Given the description of an element on the screen output the (x, y) to click on. 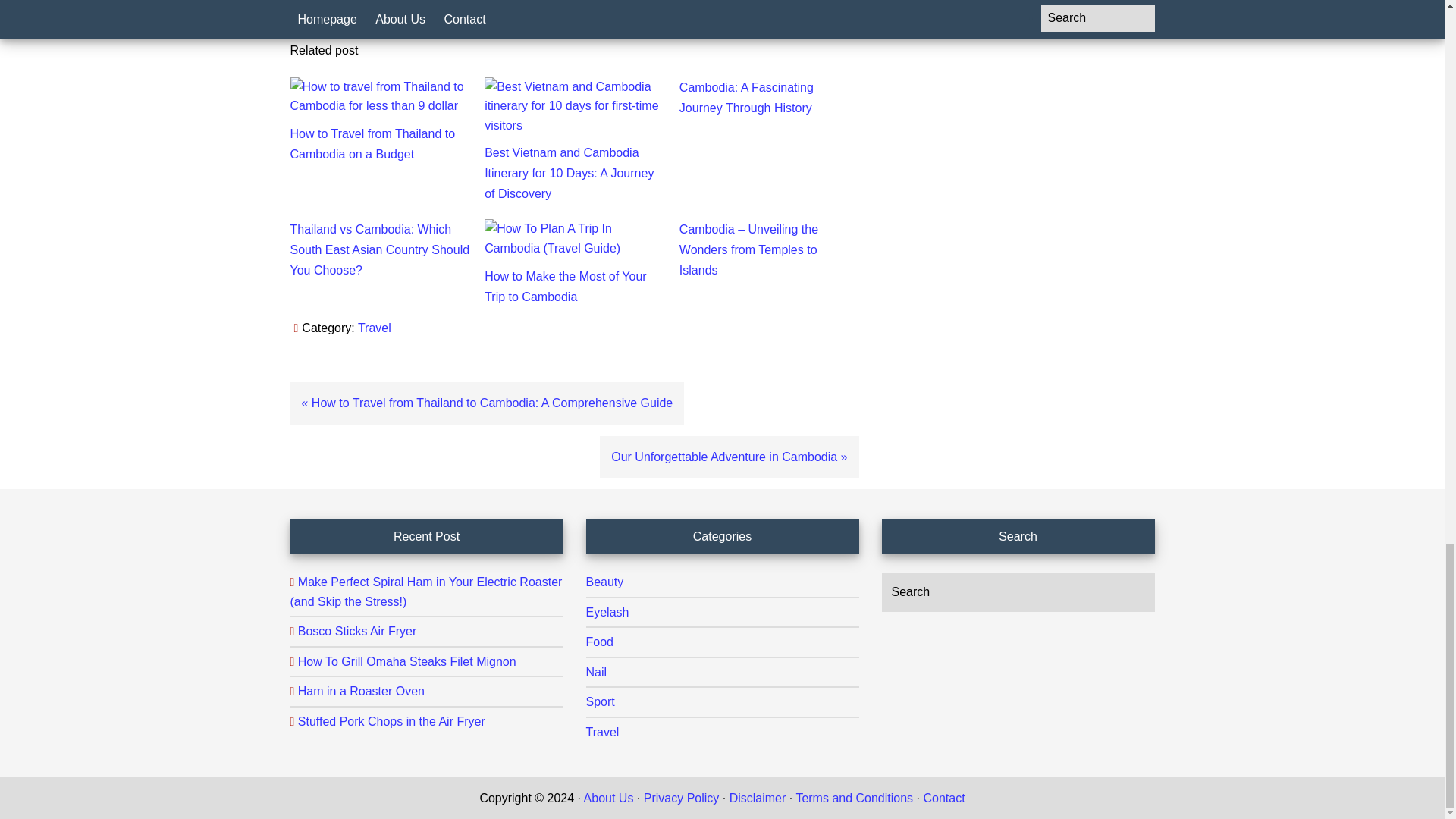
How to Travel from Thailand to Cambodia on a Budget (371, 143)
Cambodia: A Fascinating Journey Through History (746, 97)
Travel (374, 327)
How to Make the Most of Your Trip to Cambodia (565, 286)
